Given the description of an element on the screen output the (x, y) to click on. 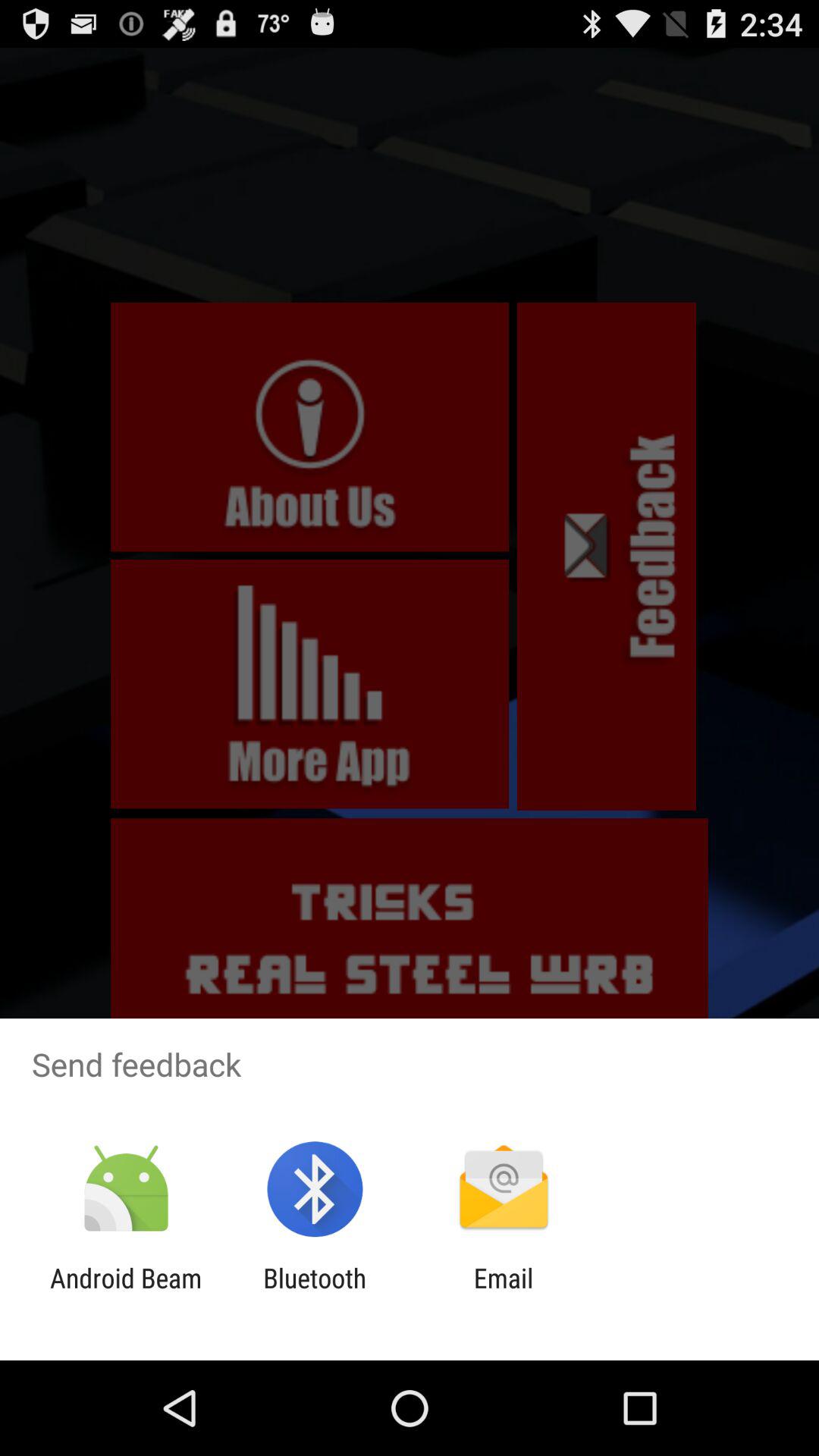
launch icon next to android beam item (314, 1293)
